Given the description of an element on the screen output the (x, y) to click on. 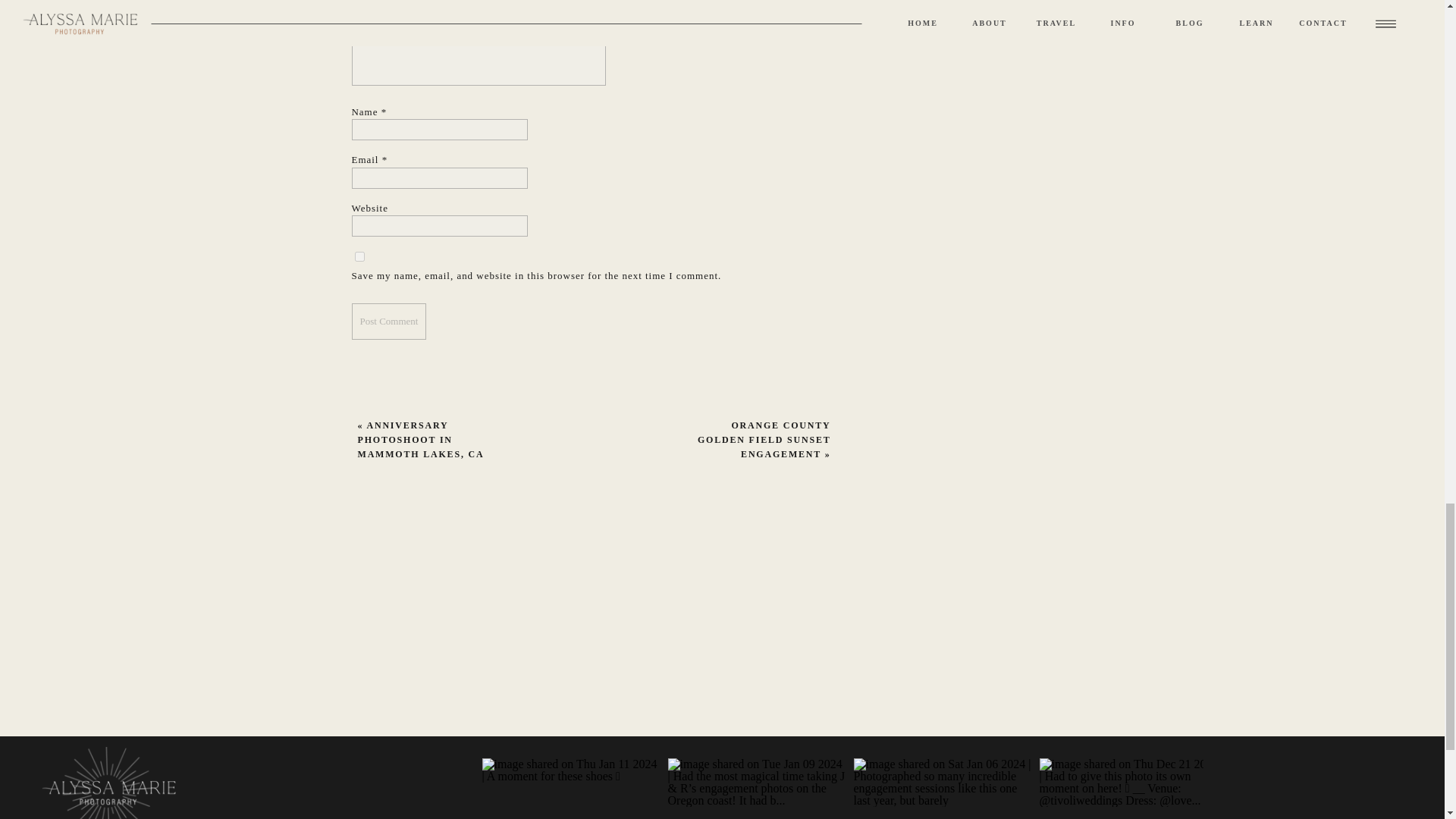
ANNIVERSARY PHOTOSHOOT IN MAMMOTH LAKES, CA (421, 439)
Post Comment (389, 321)
ORANGE COUNTY GOLDEN FIELD SUNSET ENGAGEMENT (764, 439)
yes (360, 256)
Post Comment (389, 321)
